Given the description of an element on the screen output the (x, y) to click on. 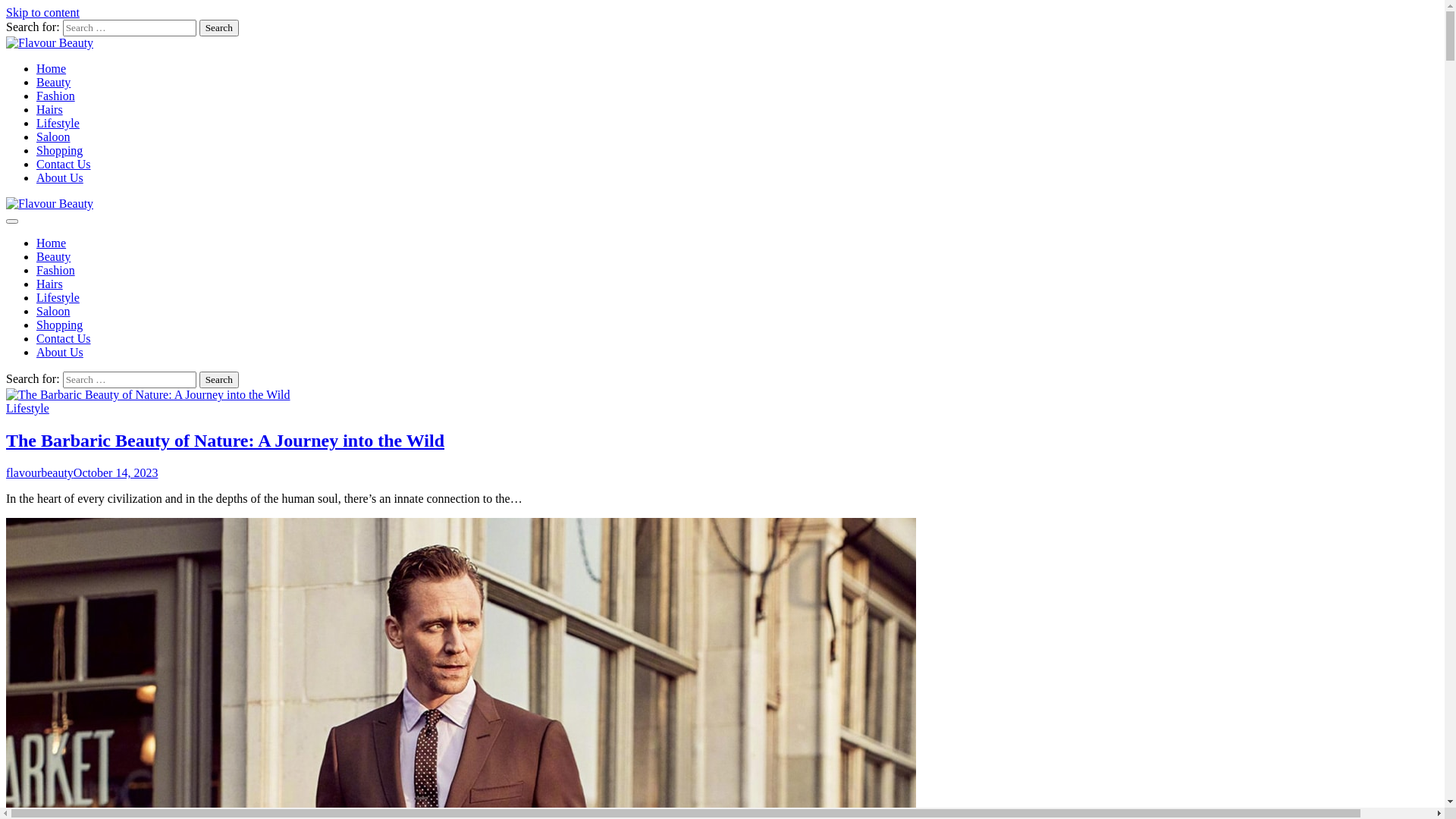
Saloon Element type: text (52, 136)
Home Element type: text (50, 68)
Lifestyle Element type: text (57, 122)
Shopping Element type: text (59, 324)
Saloon Element type: text (52, 310)
Contact Us Element type: text (63, 338)
Contact Us Element type: text (63, 163)
Hairs Element type: text (49, 109)
Beauty Element type: text (53, 256)
Beauty Element type: text (53, 81)
Shopping Element type: text (59, 150)
About Us Element type: text (59, 177)
Fashion Element type: text (55, 269)
Fashion Element type: text (55, 95)
flavourbeauty Element type: text (39, 472)
Home Element type: text (50, 242)
Hairs Element type: text (49, 283)
Search Element type: text (218, 379)
Lifestyle Element type: text (27, 407)
Lifestyle Element type: text (57, 297)
October 14, 2023 Element type: text (115, 472)
Skip to content Element type: text (42, 12)
The Barbaric Beauty of Nature: A Journey into the Wild Element type: text (225, 440)
About Us Element type: text (59, 351)
Search Element type: text (218, 27)
